Given the description of an element on the screen output the (x, y) to click on. 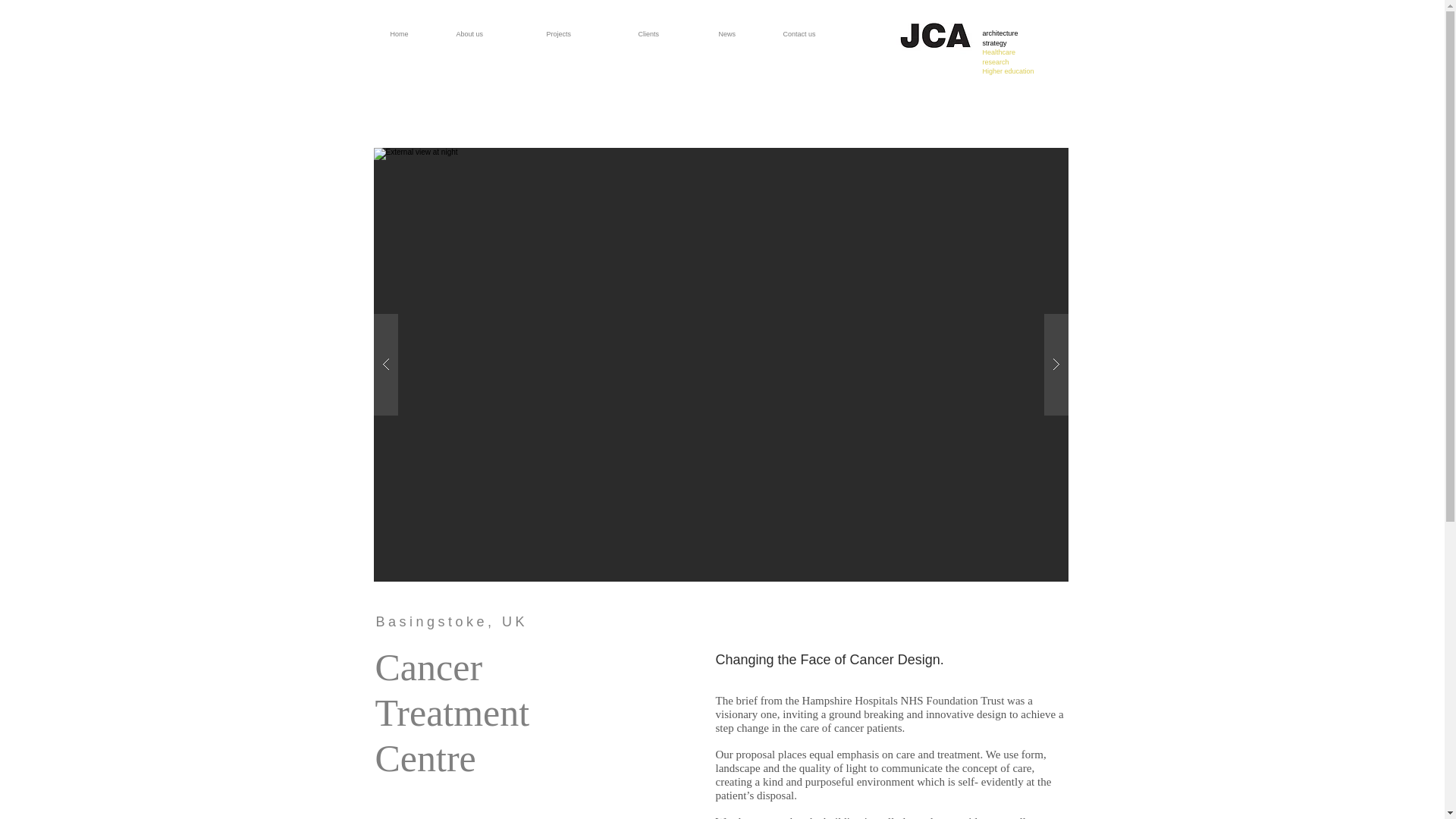
Clients (672, 27)
About us (1007, 52)
News (494, 27)
Home (745, 27)
Contact us (416, 27)
Projects (827, 27)
